Given the description of an element on the screen output the (x, y) to click on. 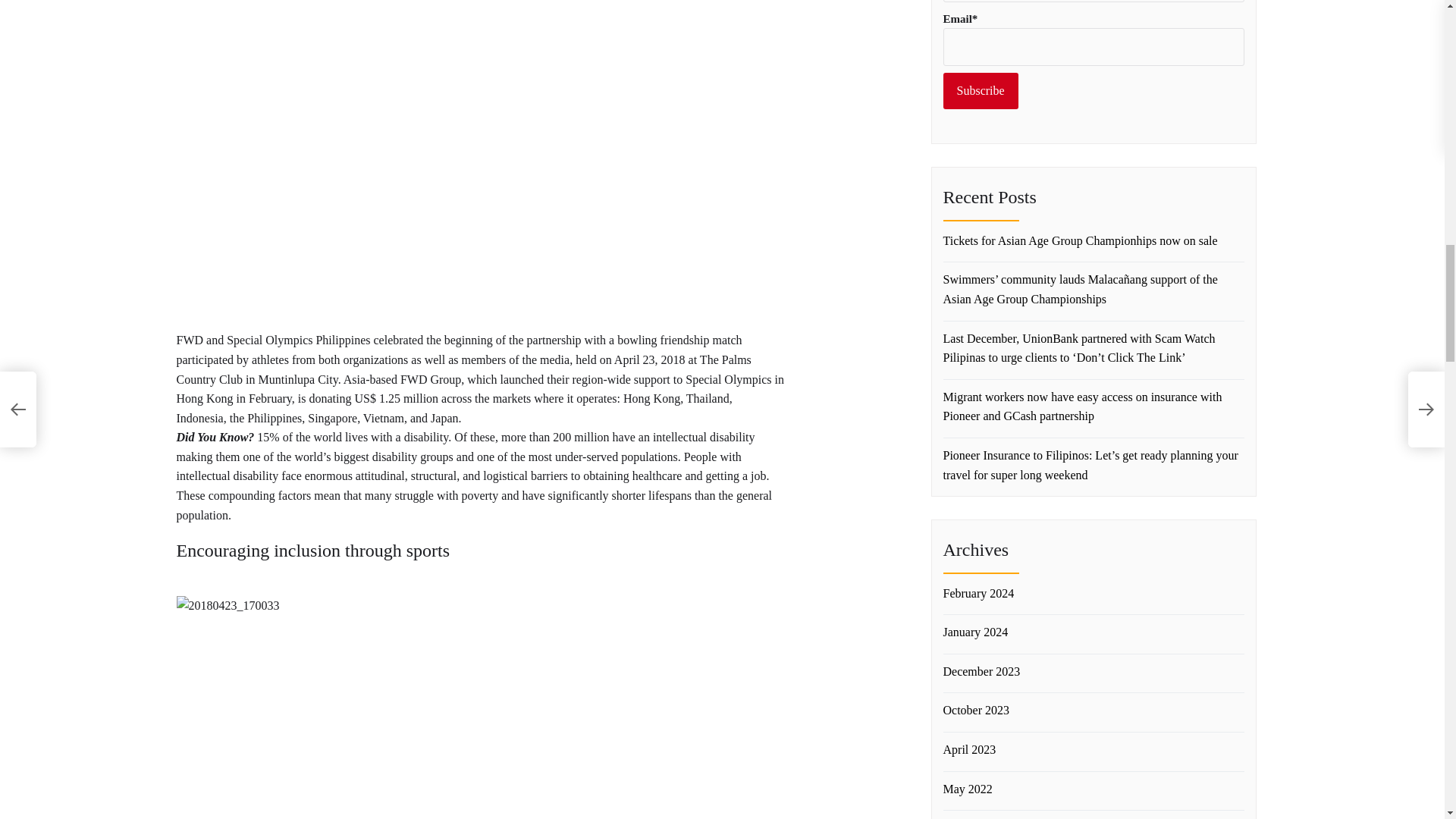
Subscribe (980, 90)
